Given the description of an element on the screen output the (x, y) to click on. 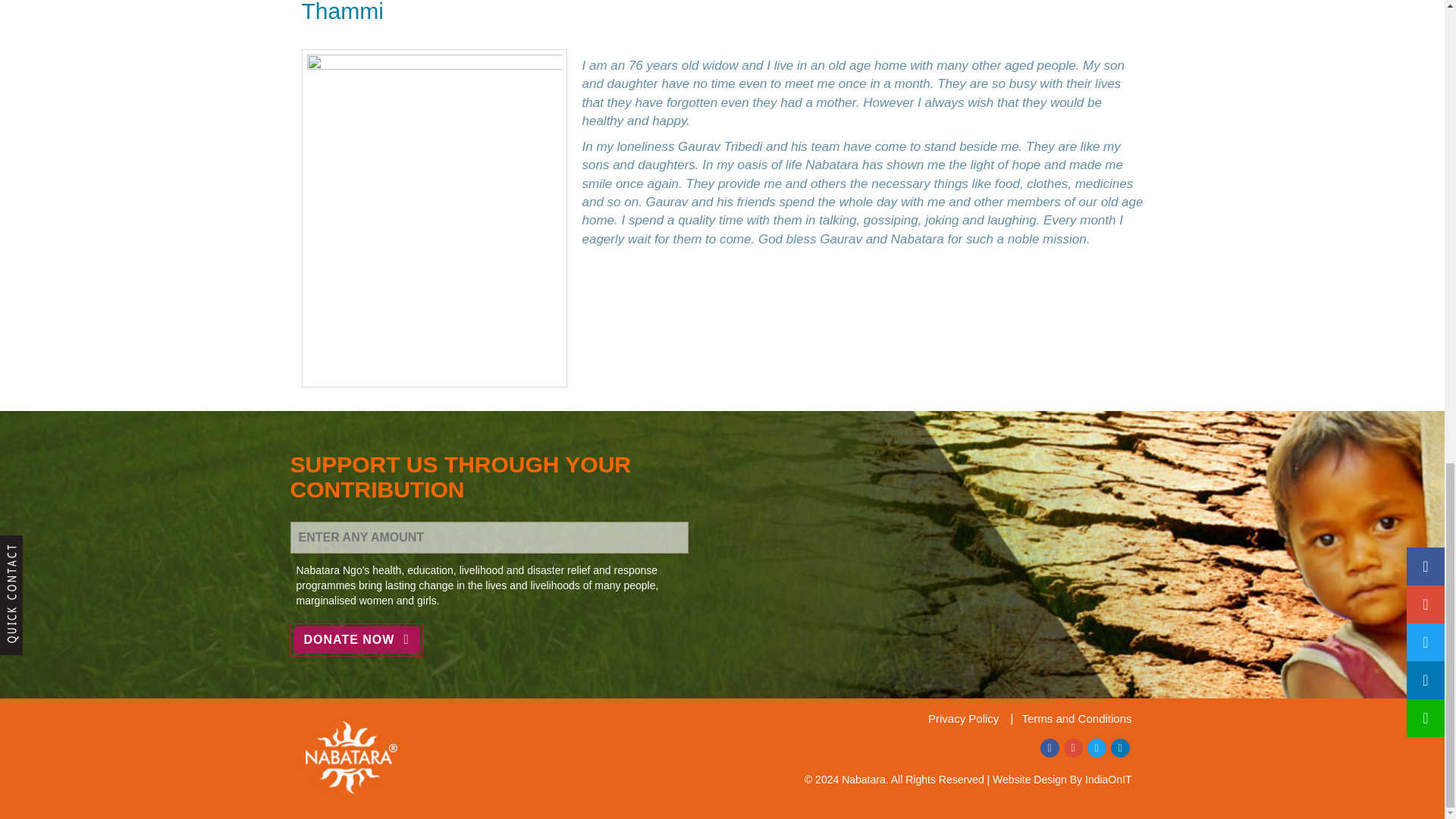
Terms and Conditions (1066, 717)
Privacy Policy (963, 717)
